Given the description of an element on the screen output the (x, y) to click on. 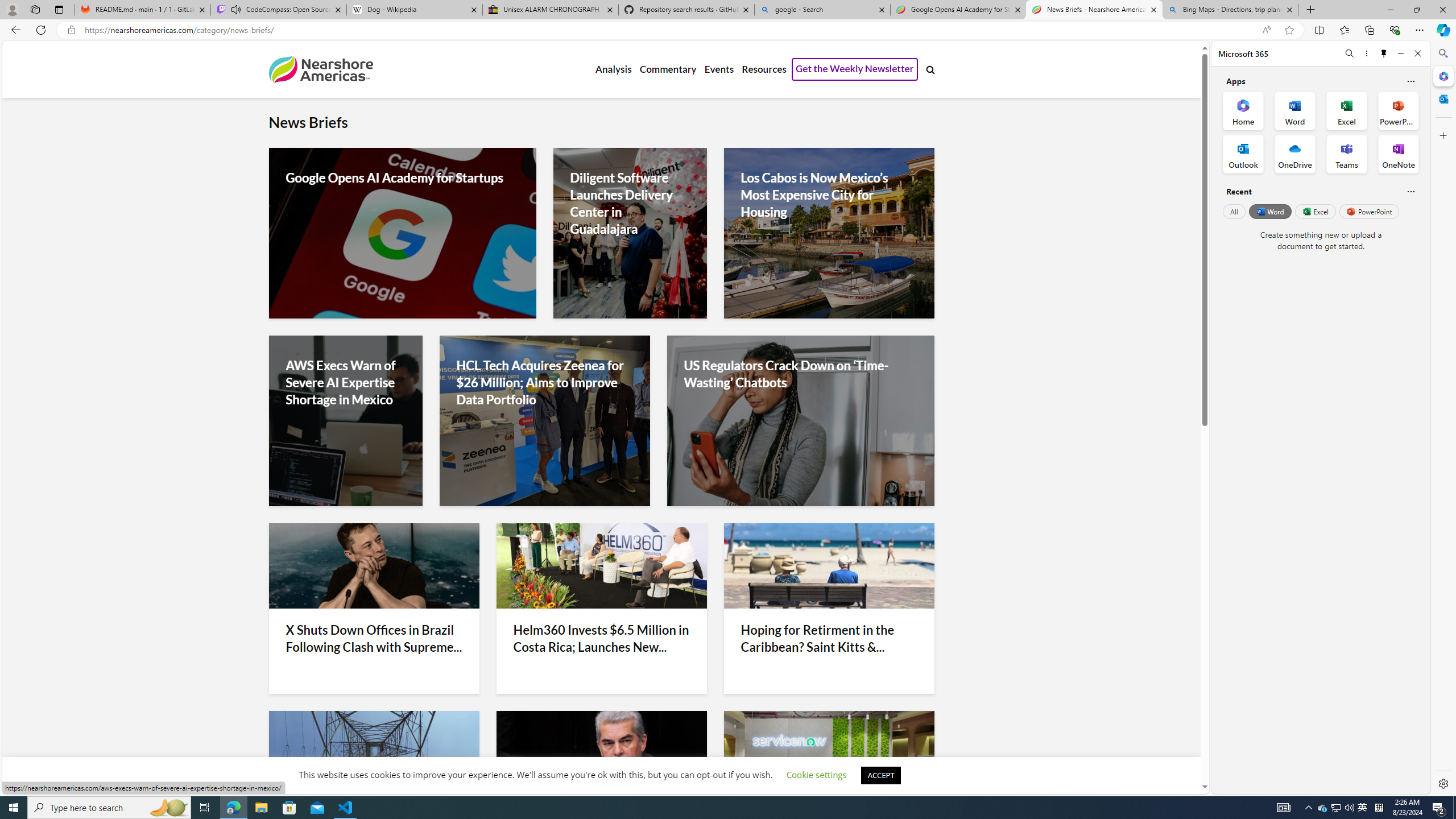
Resources (763, 69)
Resources (763, 69)
Commentary (667, 69)
Analysis (613, 69)
Analysis (613, 69)
Dog - Wikipedia (414, 9)
